Given the description of an element on the screen output the (x, y) to click on. 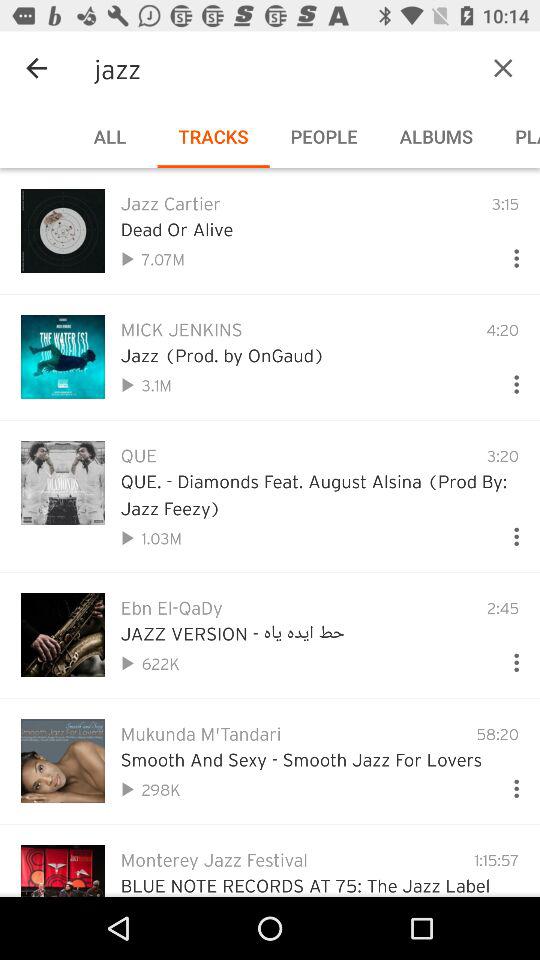
more information and options (508, 658)
